Given the description of an element on the screen output the (x, y) to click on. 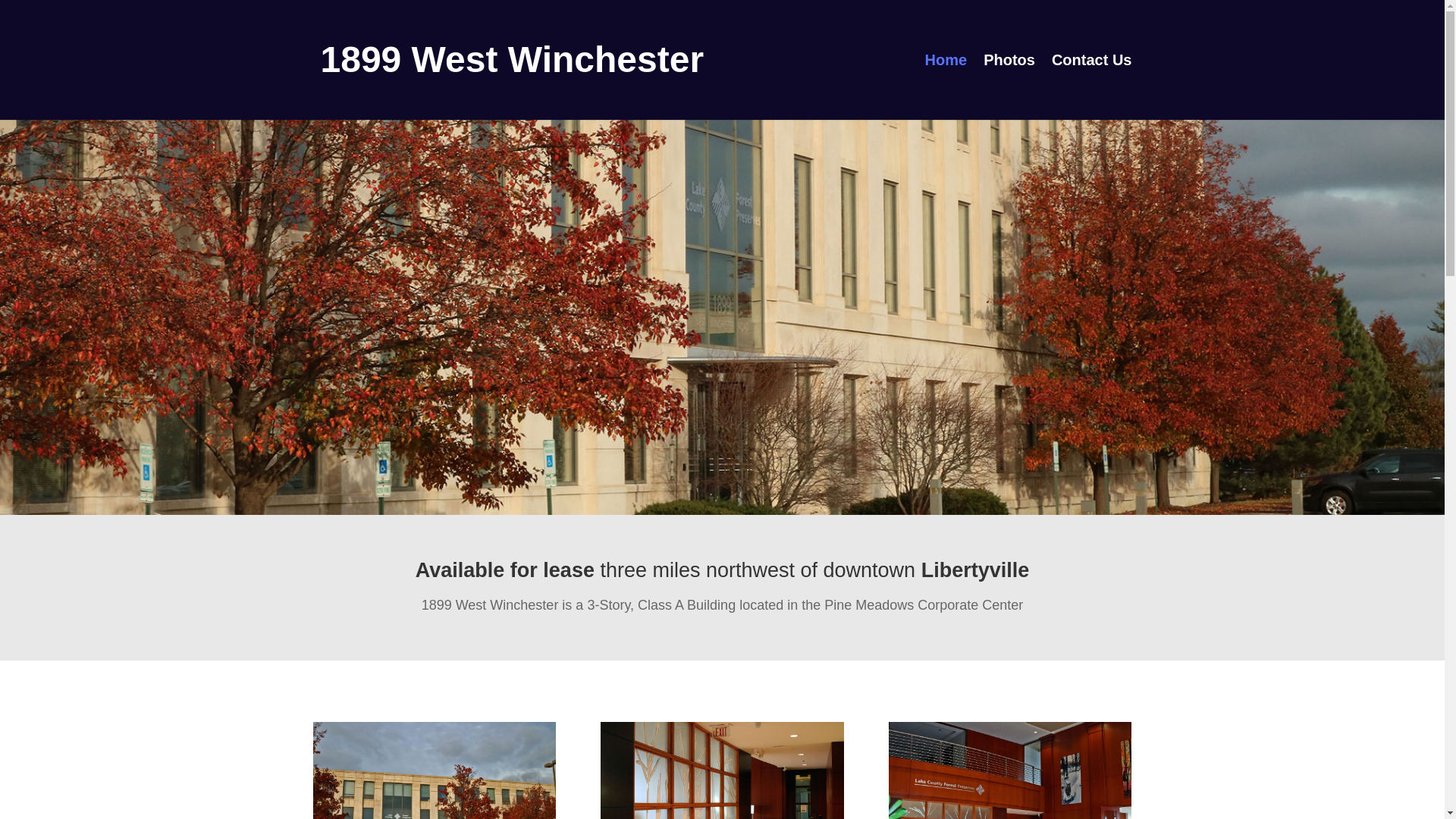
Home Element type: text (946, 86)
Photos Element type: text (1009, 86)
1899 West Winchester Element type: text (511, 59)
Contact Us Element type: text (1091, 86)
